Given the description of an element on the screen output the (x, y) to click on. 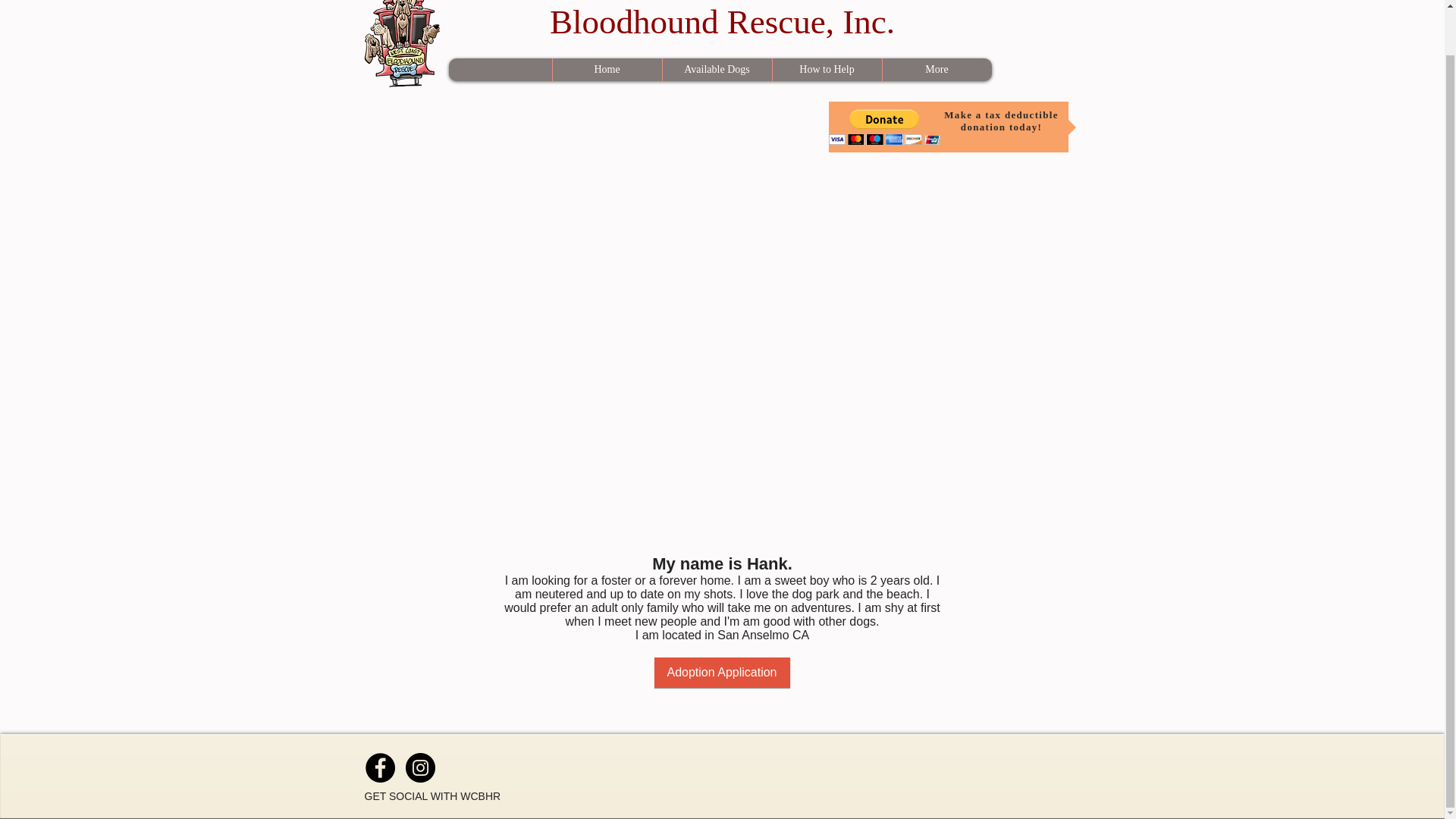
Available Dogs (716, 69)
Adoption Application (721, 672)
How to Help (722, 20)
Home (826, 69)
